Given the description of an element on the screen output the (x, y) to click on. 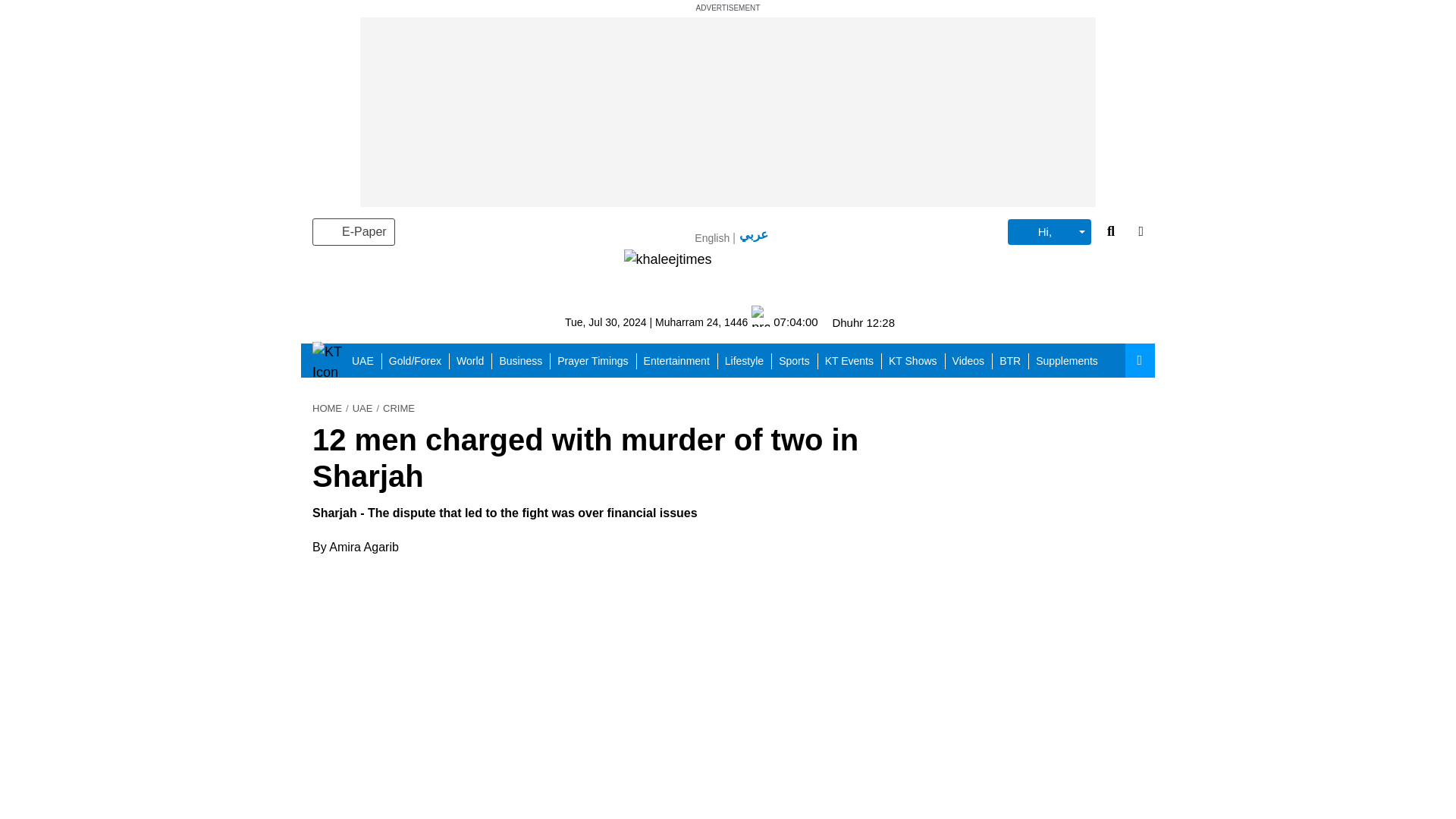
Hi, (1048, 232)
Dhuhr 12:28 (863, 322)
E-Paper (353, 231)
07:04:00 (783, 321)
